Given the description of an element on the screen output the (x, y) to click on. 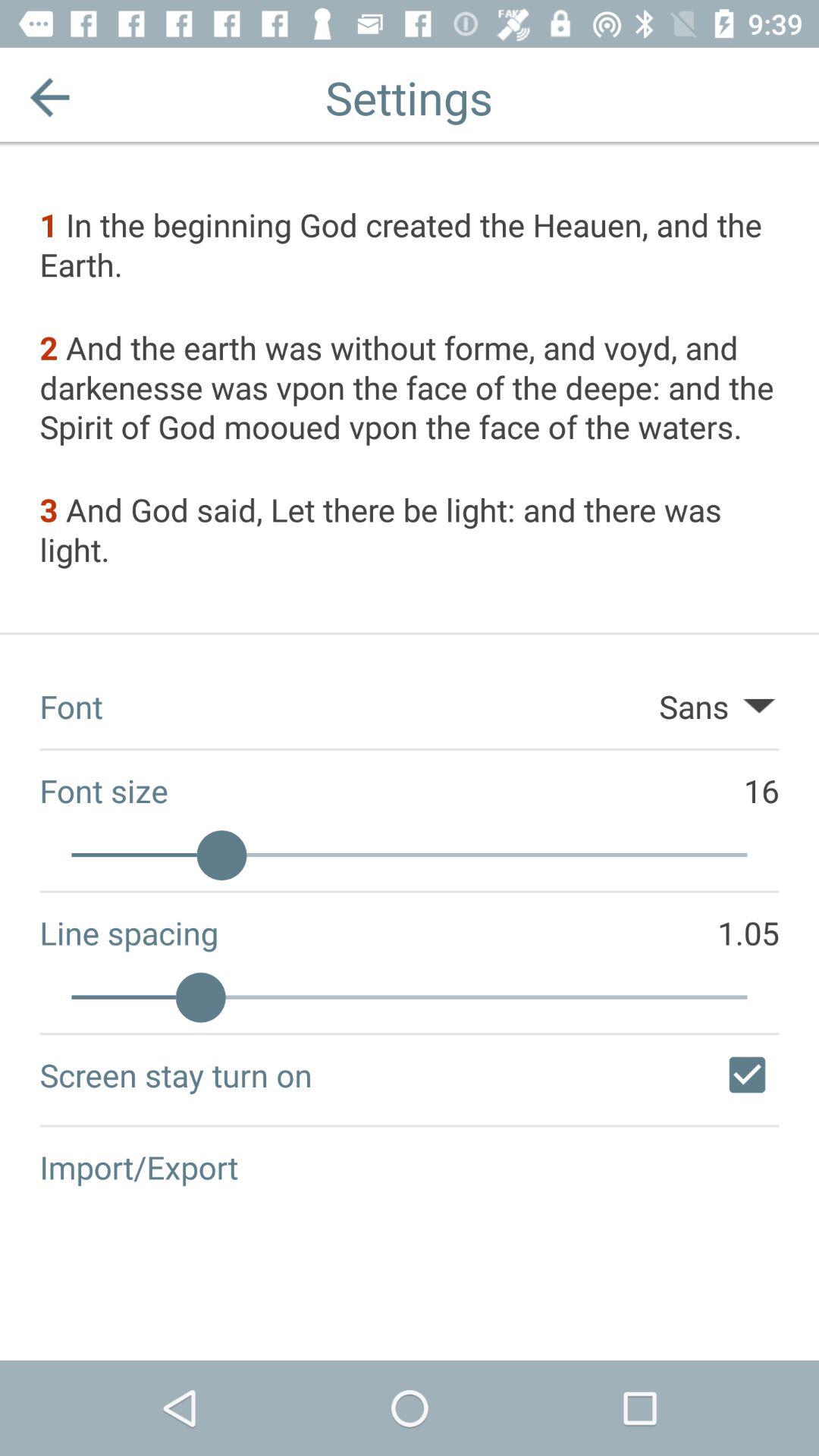
turn off the item at the top left corner (49, 97)
